Given the description of an element on the screen output the (x, y) to click on. 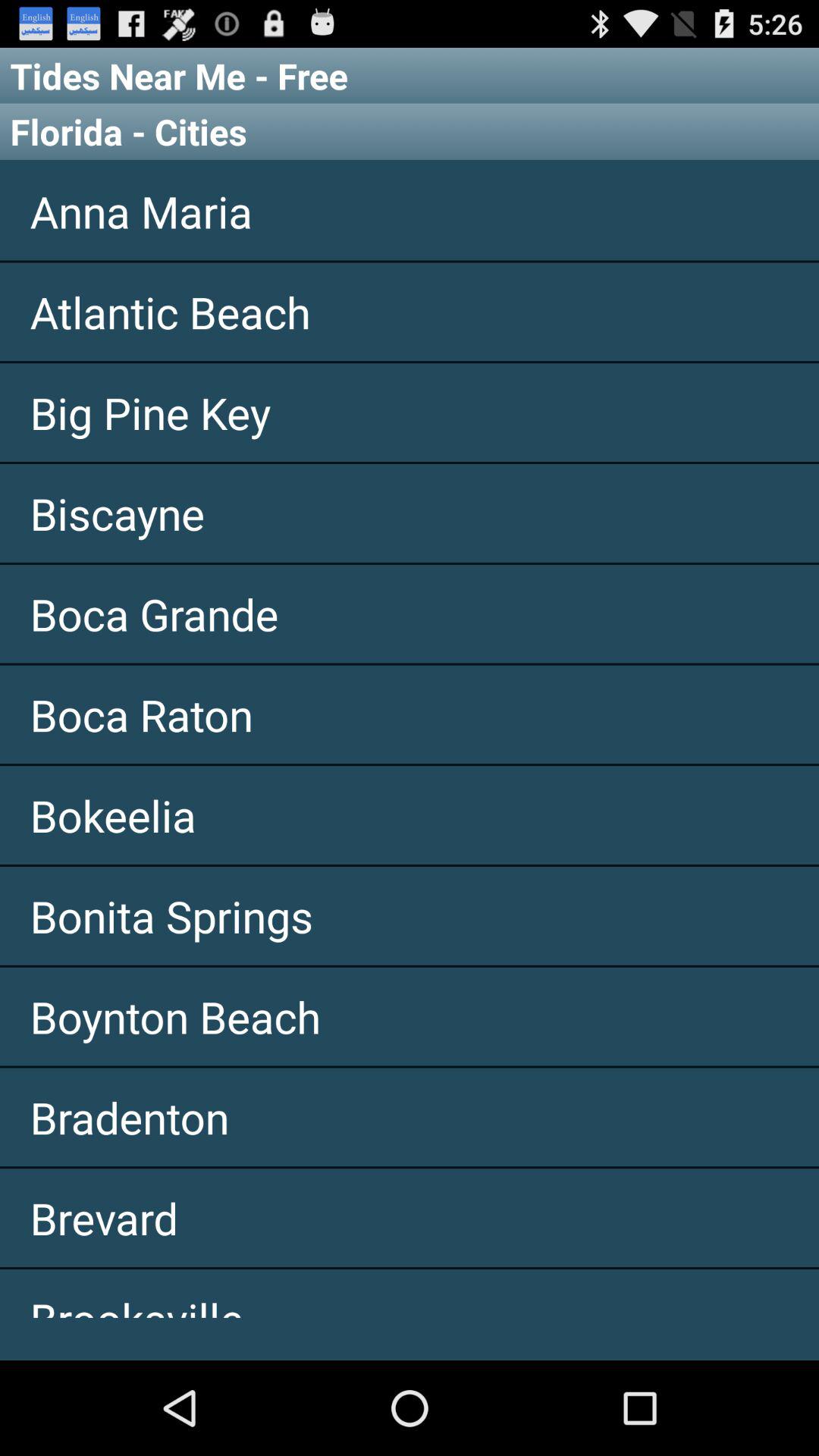
click the app below the big pine key (409, 513)
